Given the description of an element on the screen output the (x, y) to click on. 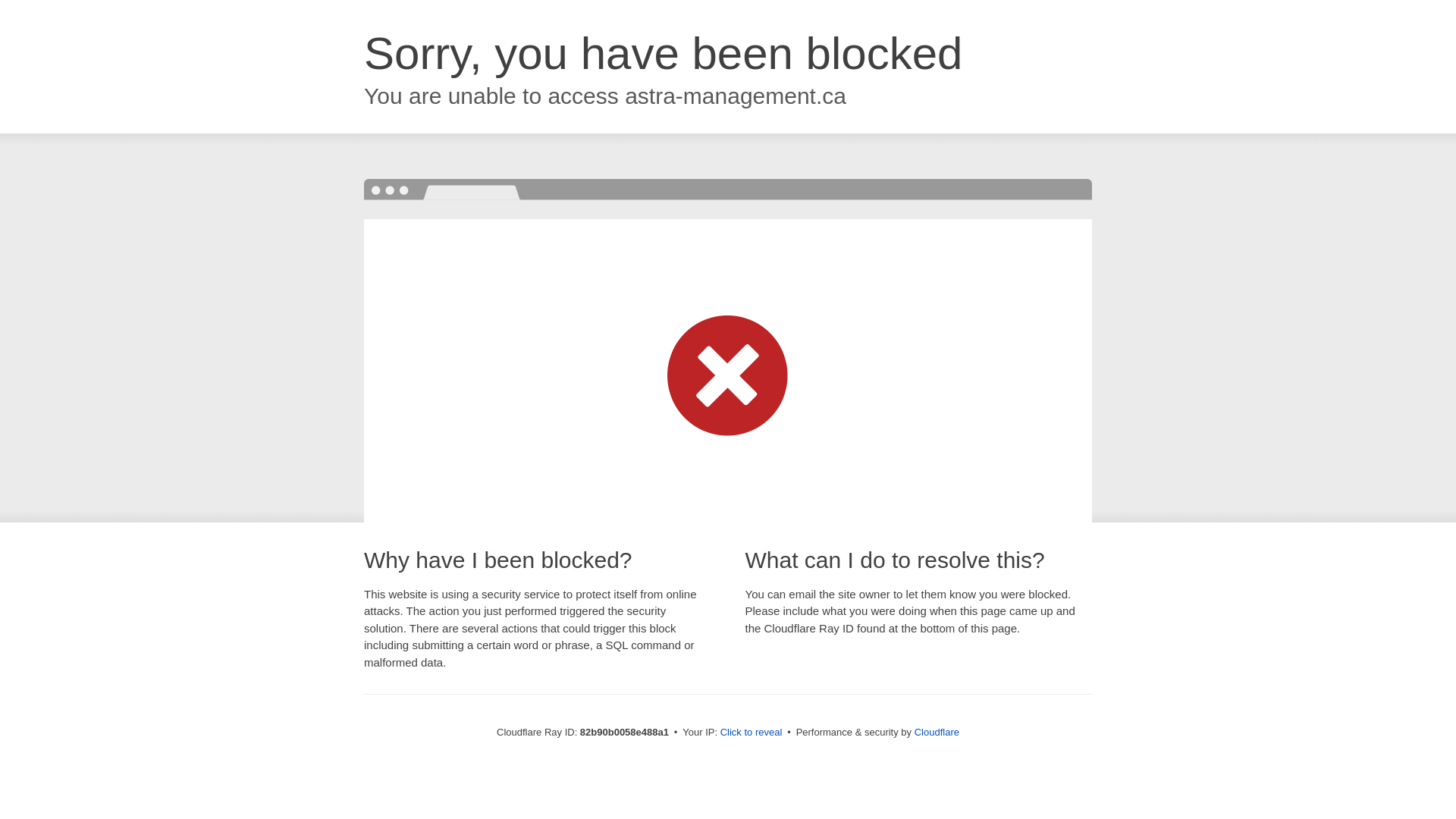
Cloudflare Element type: text (936, 731)
Click to reveal Element type: text (751, 732)
